Given the description of an element on the screen output the (x, y) to click on. 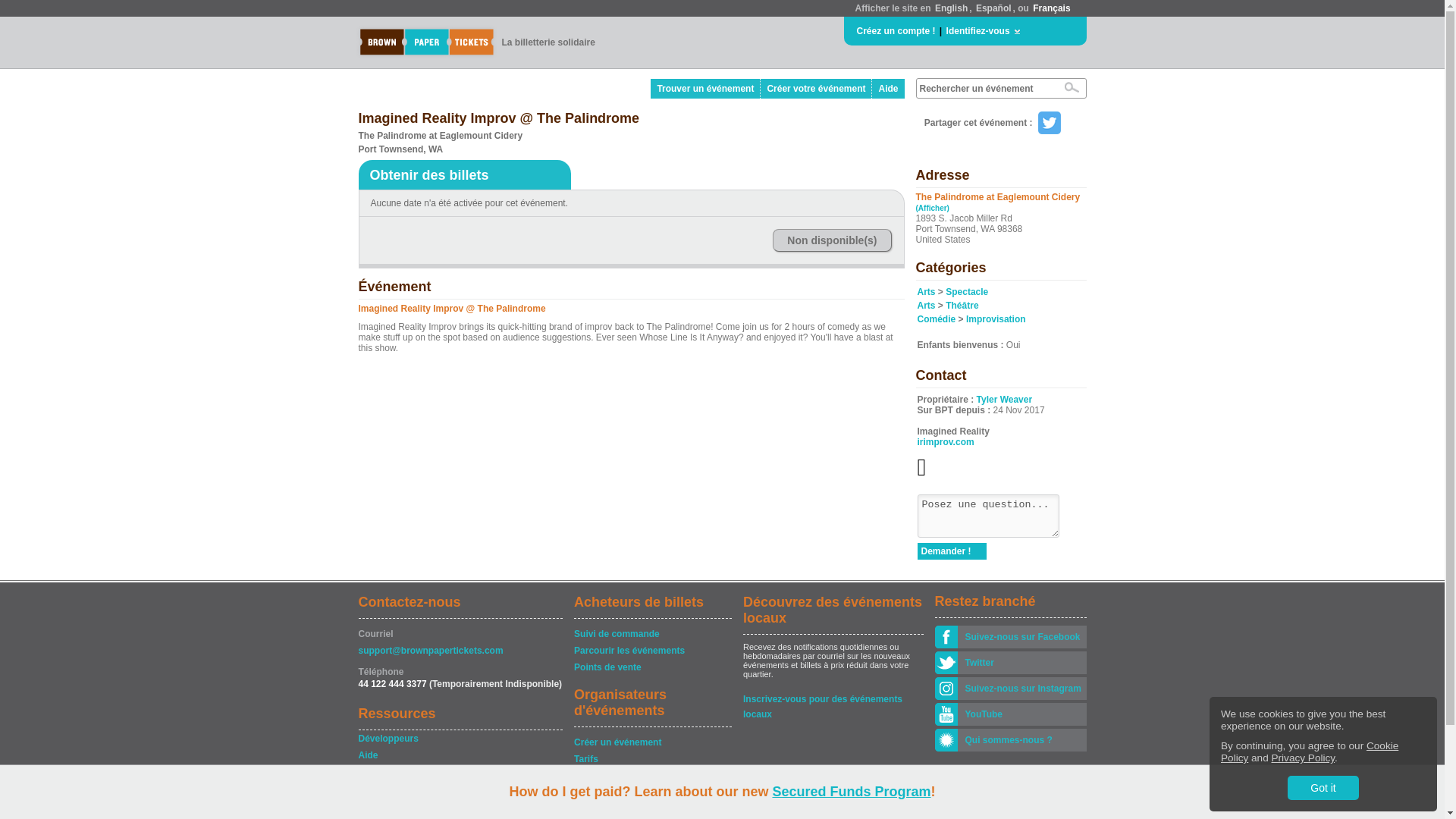
Got it (1322, 787)
Secured Funds Program (850, 791)
Submit to Twitter! (1048, 122)
Aide (888, 88)
Demander ! (952, 550)
Points de vente (651, 667)
Tarifs (651, 758)
Suivi de commande (651, 633)
Services (651, 775)
Privacy Policy (1303, 757)
